Given the description of an element on the screen output the (x, y) to click on. 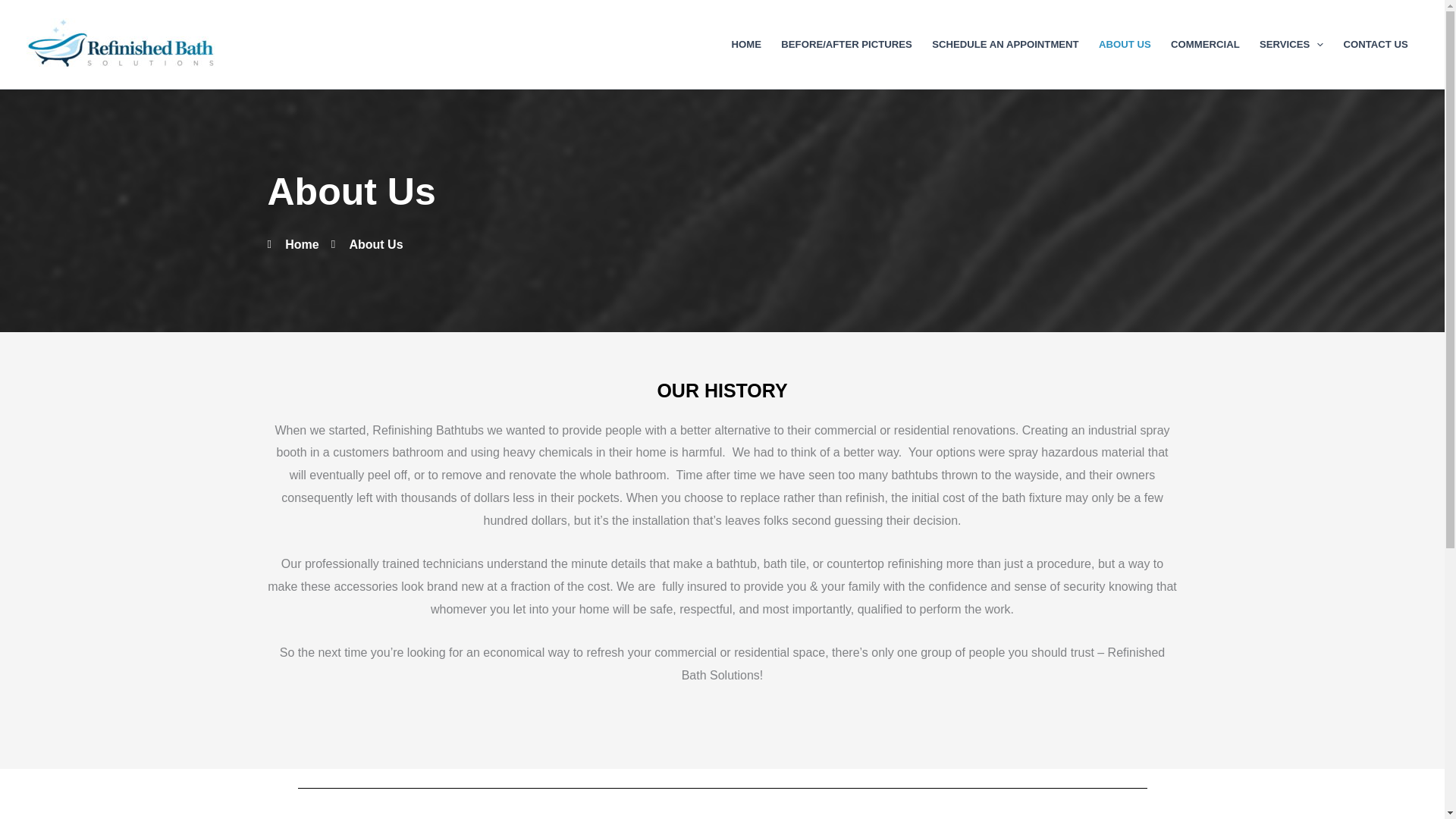
Home (292, 244)
SERVICES (1291, 43)
About Us (367, 244)
ABOUT US (1124, 43)
CONTACT US (1375, 43)
COMMERCIAL (1204, 43)
SCHEDULE AN APPOINTMENT (1005, 43)
